Given the description of an element on the screen output the (x, y) to click on. 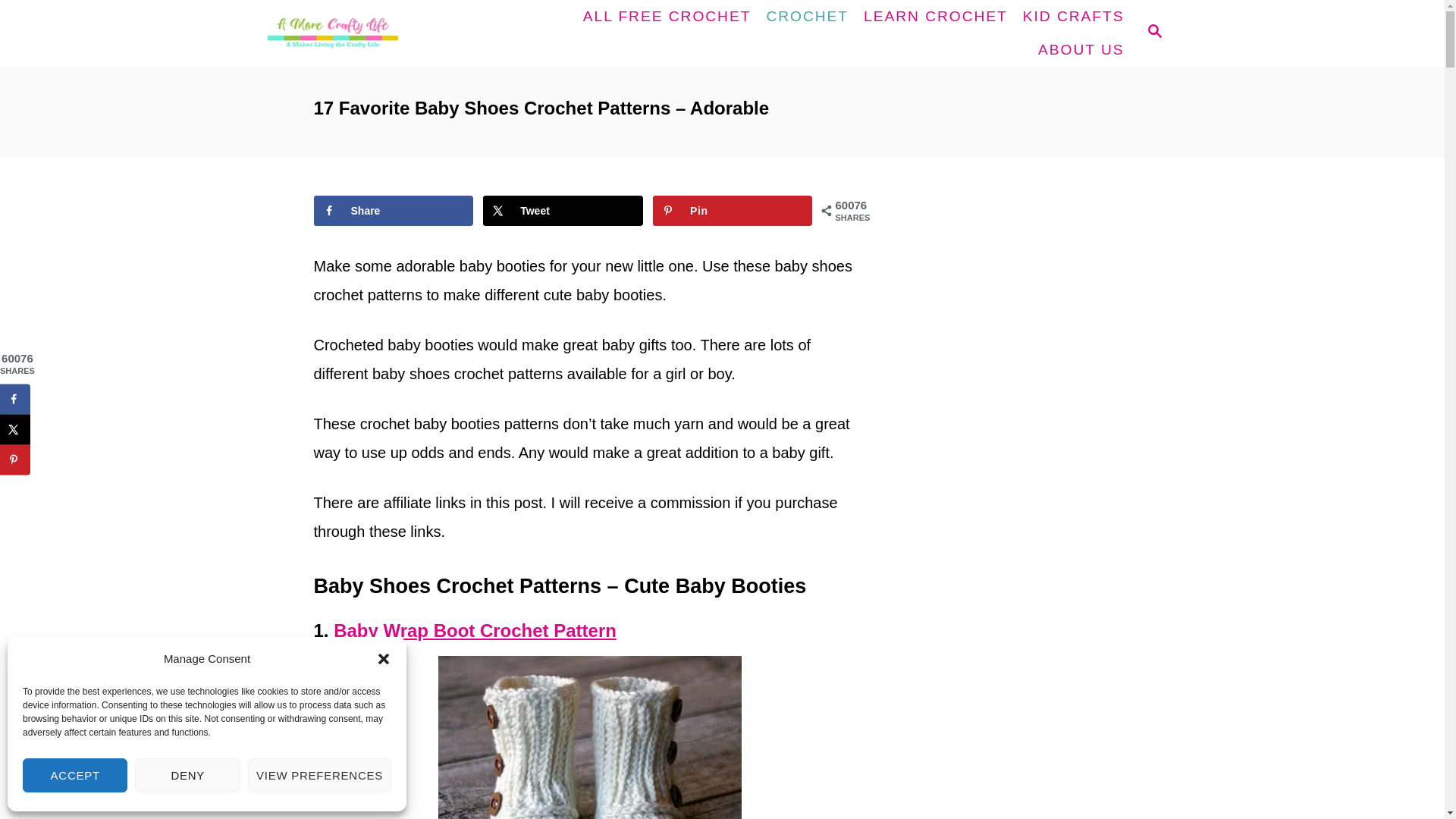
Share on X (15, 429)
Share on Facebook (394, 210)
Share on Facebook (15, 399)
DENY (187, 775)
VIEW PREFERENCES (319, 775)
KID CRAFTS (1073, 16)
SEARCH (1153, 33)
ACCEPT (75, 775)
LEARN CROCHET (935, 16)
A More Crafty Life (377, 32)
